Given the description of an element on the screen output the (x, y) to click on. 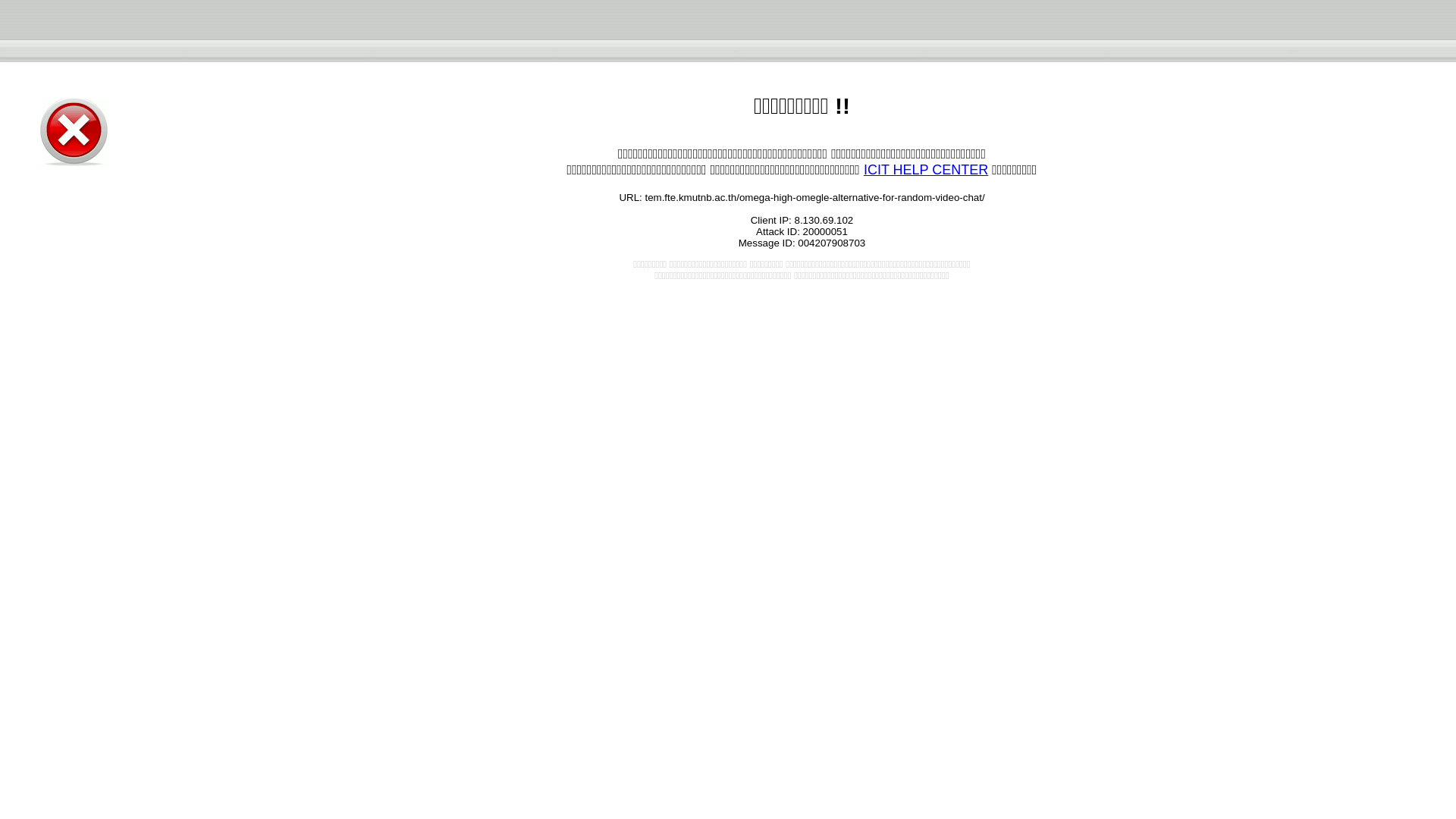
ICIT HELP CENTER (925, 169)
